Given the description of an element on the screen output the (x, y) to click on. 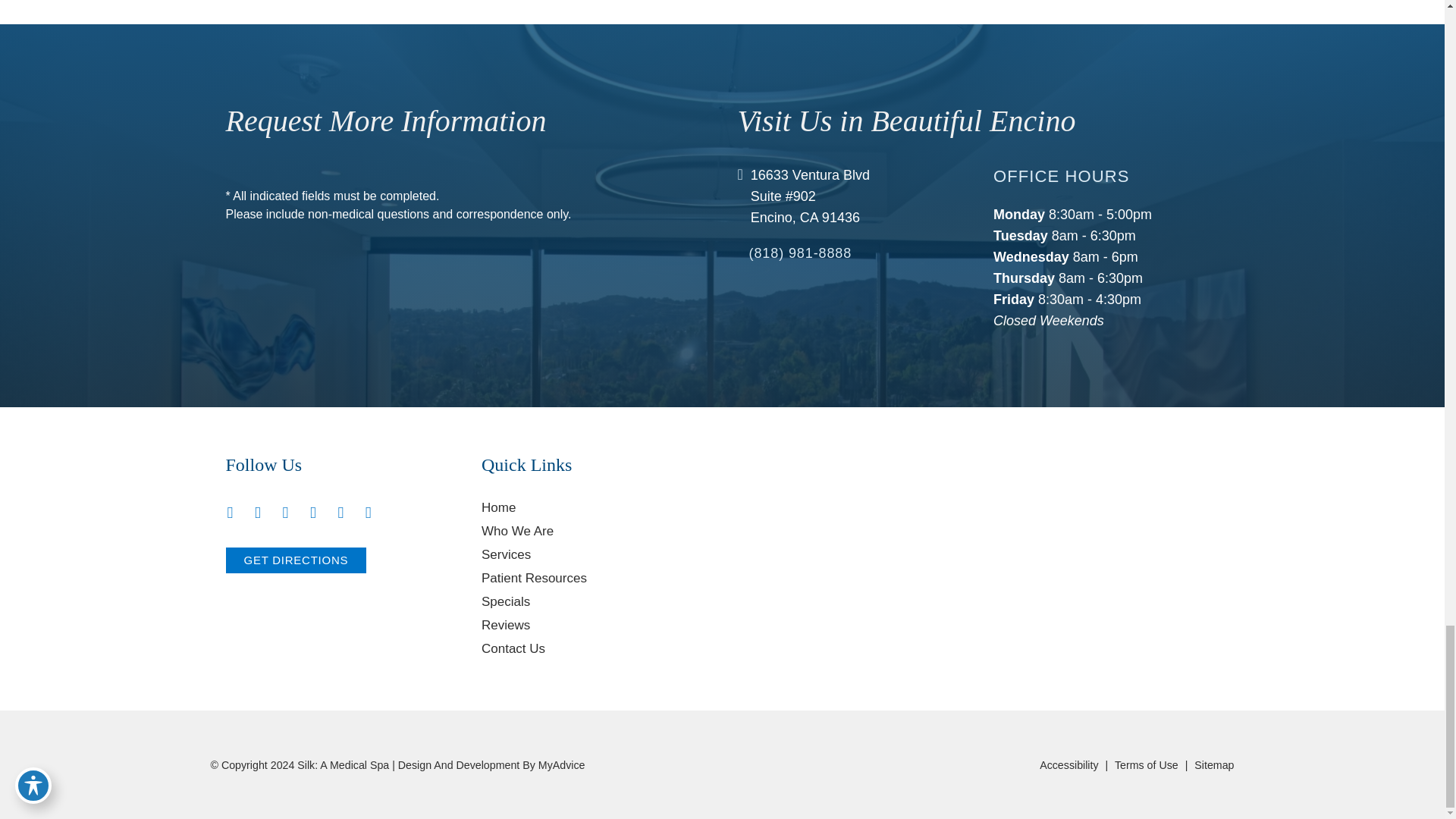
Map Location (977, 512)
Learn more about this location (810, 196)
